Given the description of an element on the screen output the (x, y) to click on. 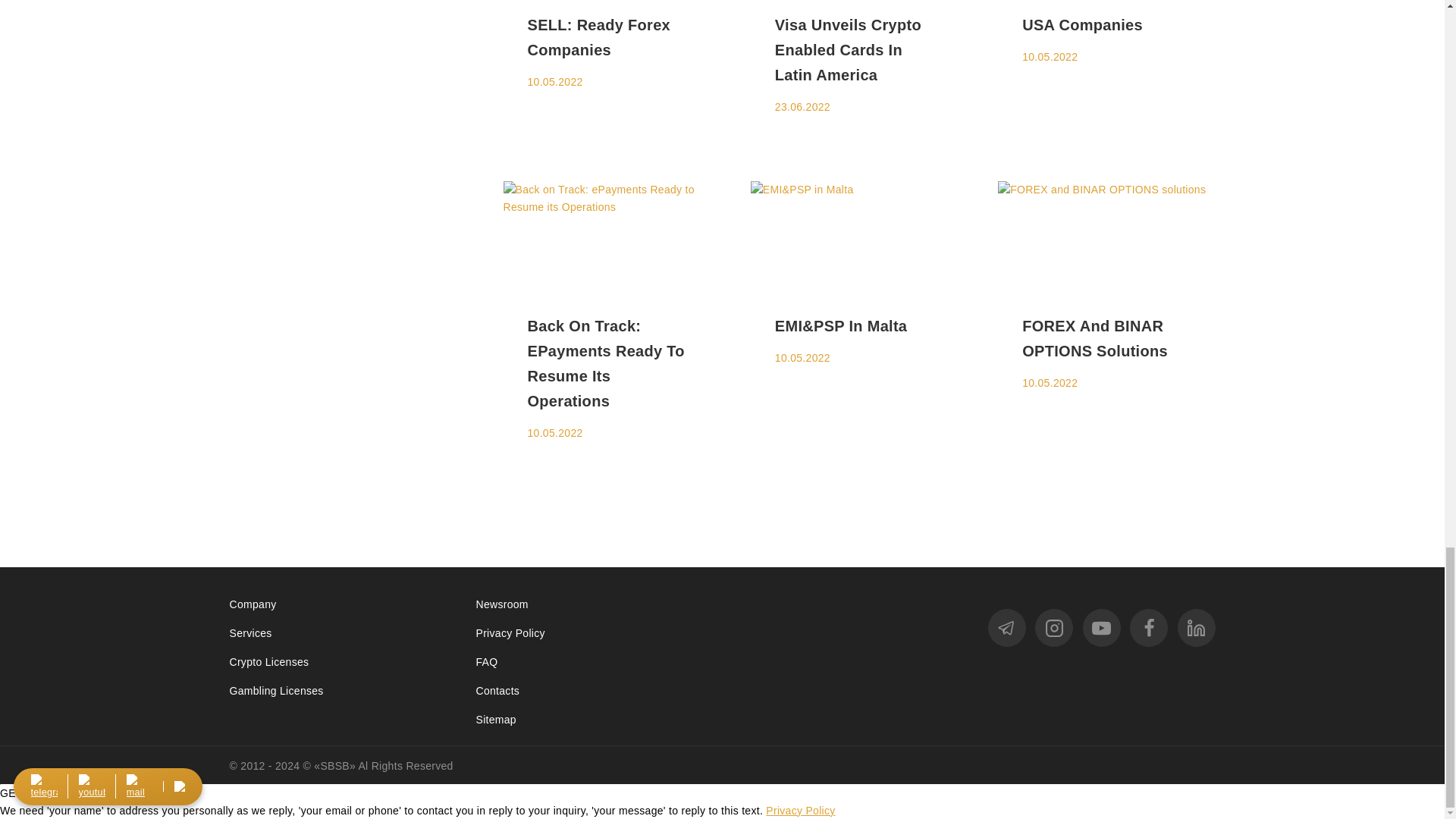
FOREX and BINAR OPTIONS solutions (1105, 234)
Back on Track: ePayments Ready to Resume its Operations (611, 234)
